Given the description of an element on the screen output the (x, y) to click on. 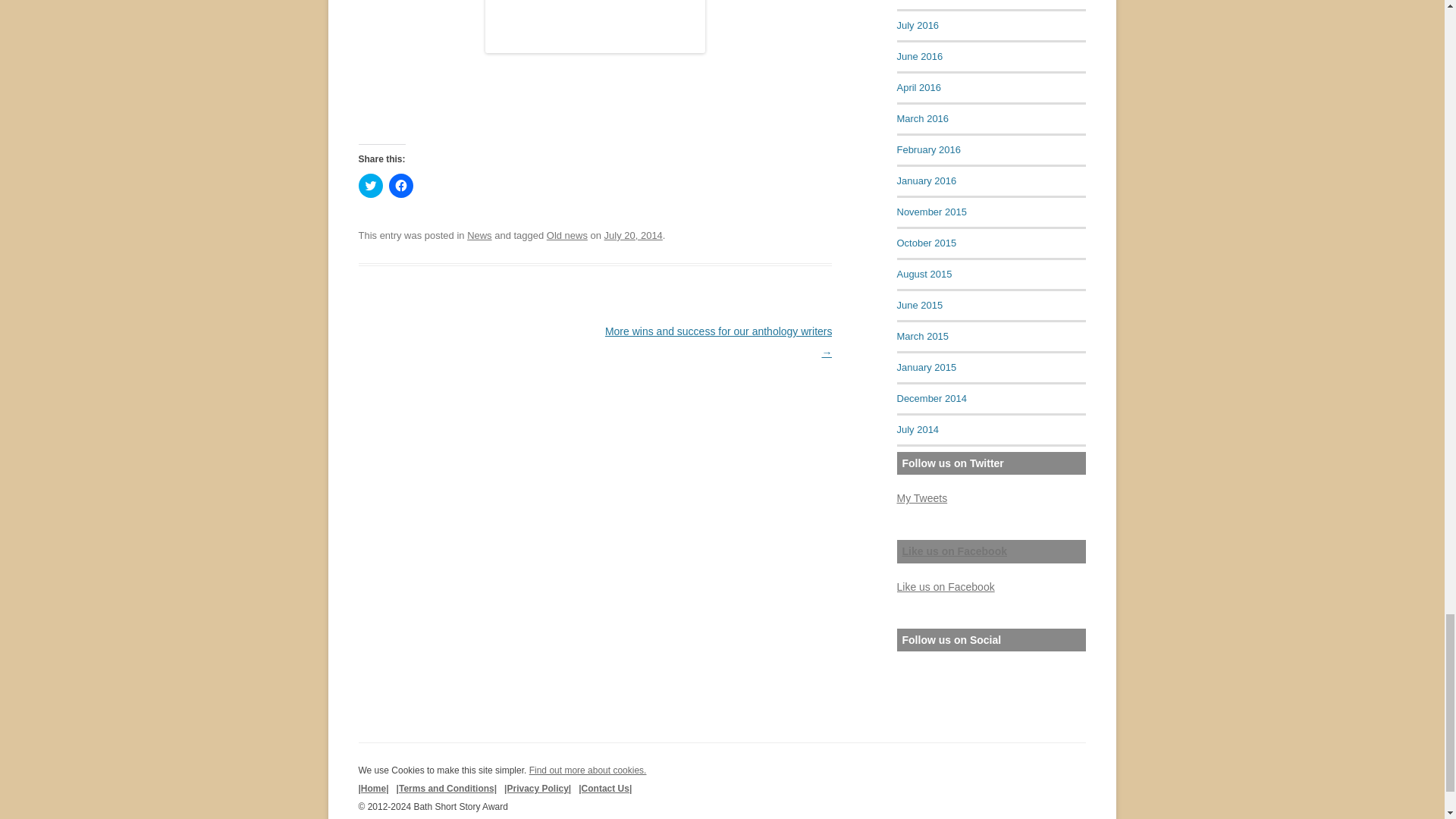
11:48 am (633, 235)
Click to share on Twitter (369, 185)
Get In Touch (604, 787)
July 20, 2014 (633, 235)
News (479, 235)
Old news (567, 235)
Cookies (587, 769)
Home Page (373, 787)
Click to share on Facebook (400, 185)
Terms and Conditions (446, 787)
